Given the description of an element on the screen output the (x, y) to click on. 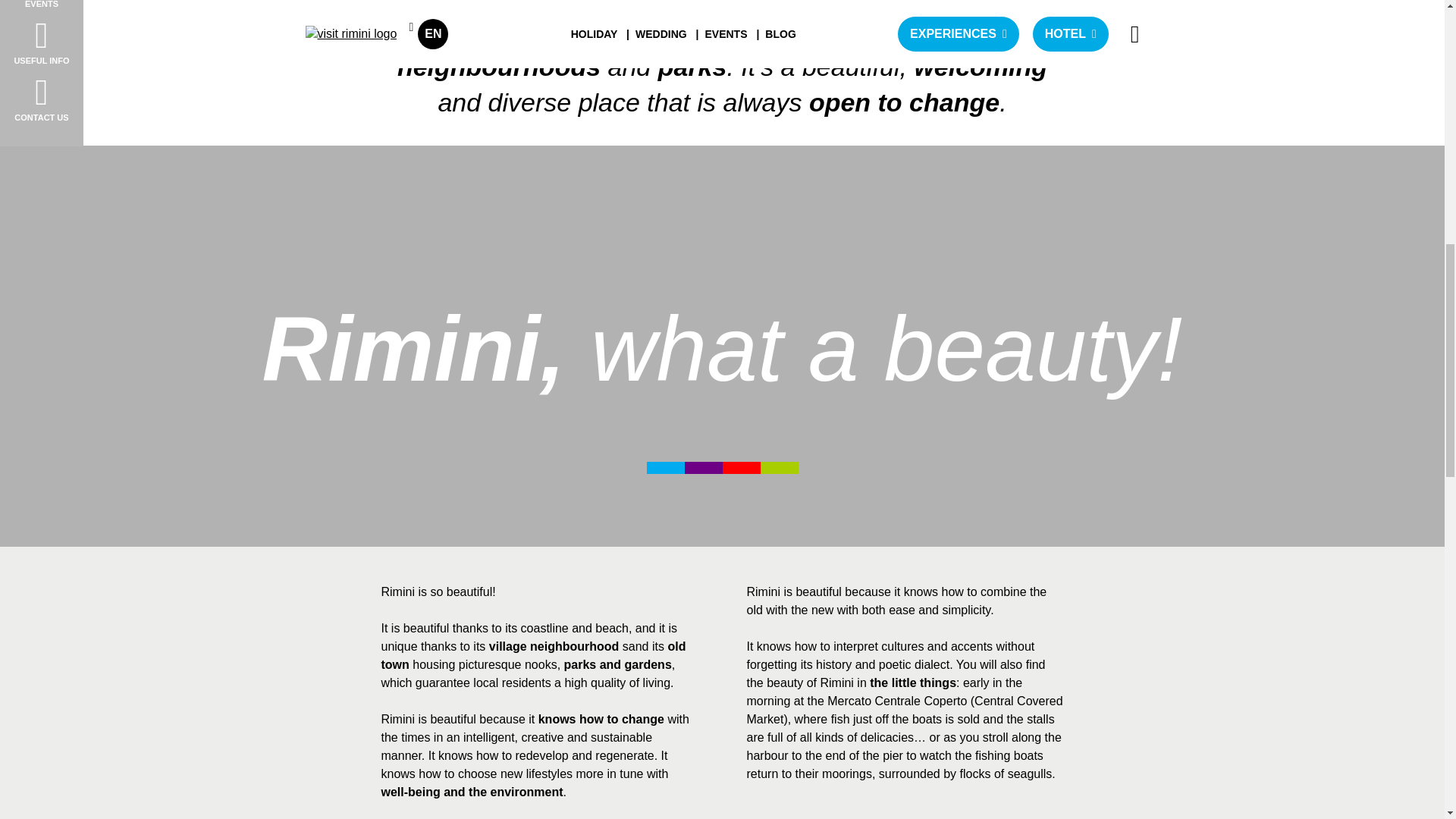
USEFUL INFO (41, 42)
EVENTS (41, 4)
CONTACT US (41, 99)
